Given the description of an element on the screen output the (x, y) to click on. 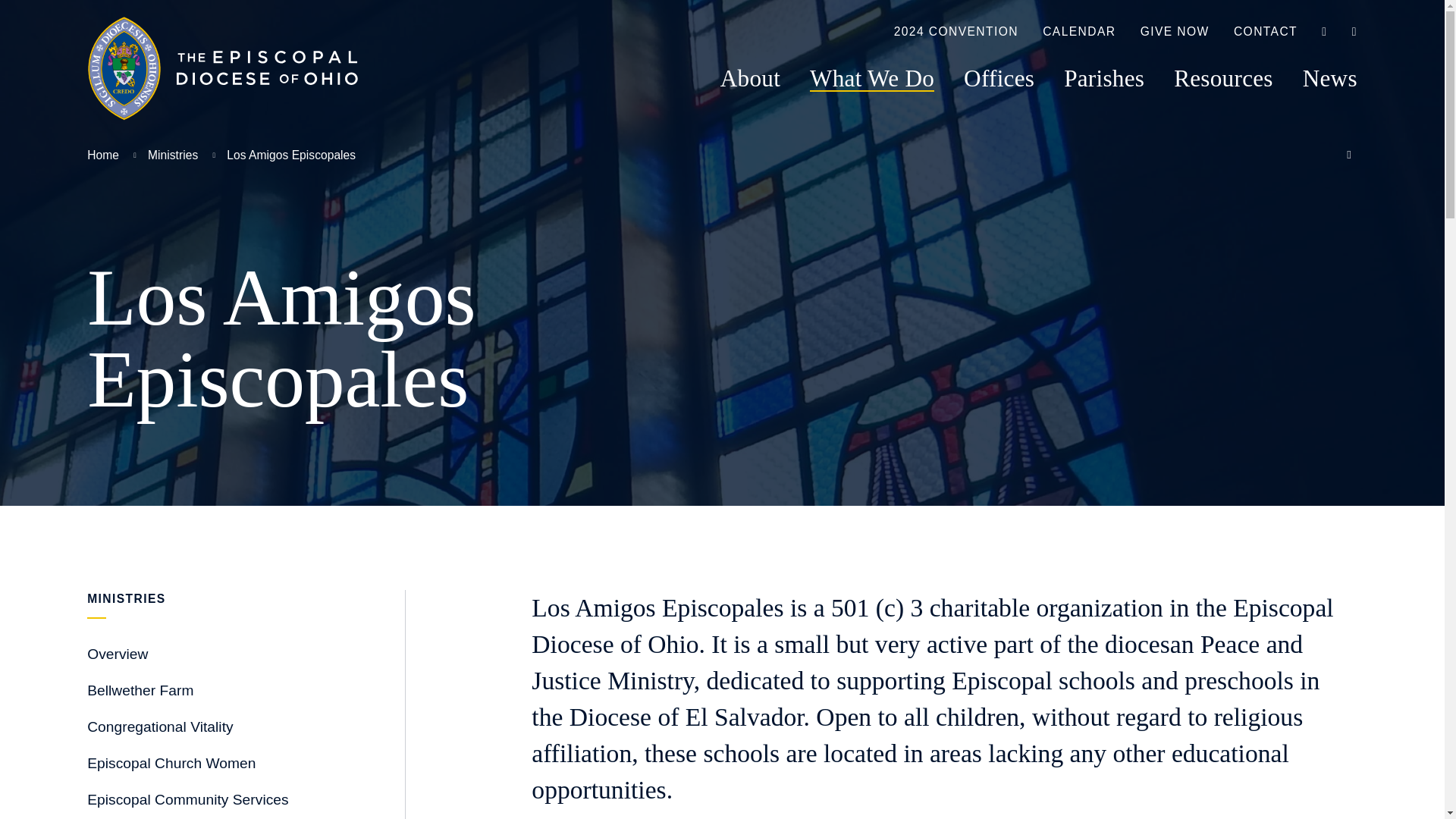
GIVE NOW (1174, 33)
CONTACT (1265, 33)
News (1329, 78)
2024 CONVENTION (955, 33)
CALENDAR (1078, 33)
About (750, 78)
Parishes (1104, 78)
What We Do (871, 78)
Resources (1222, 78)
Offices (998, 78)
